Given the description of an element on the screen output the (x, y) to click on. 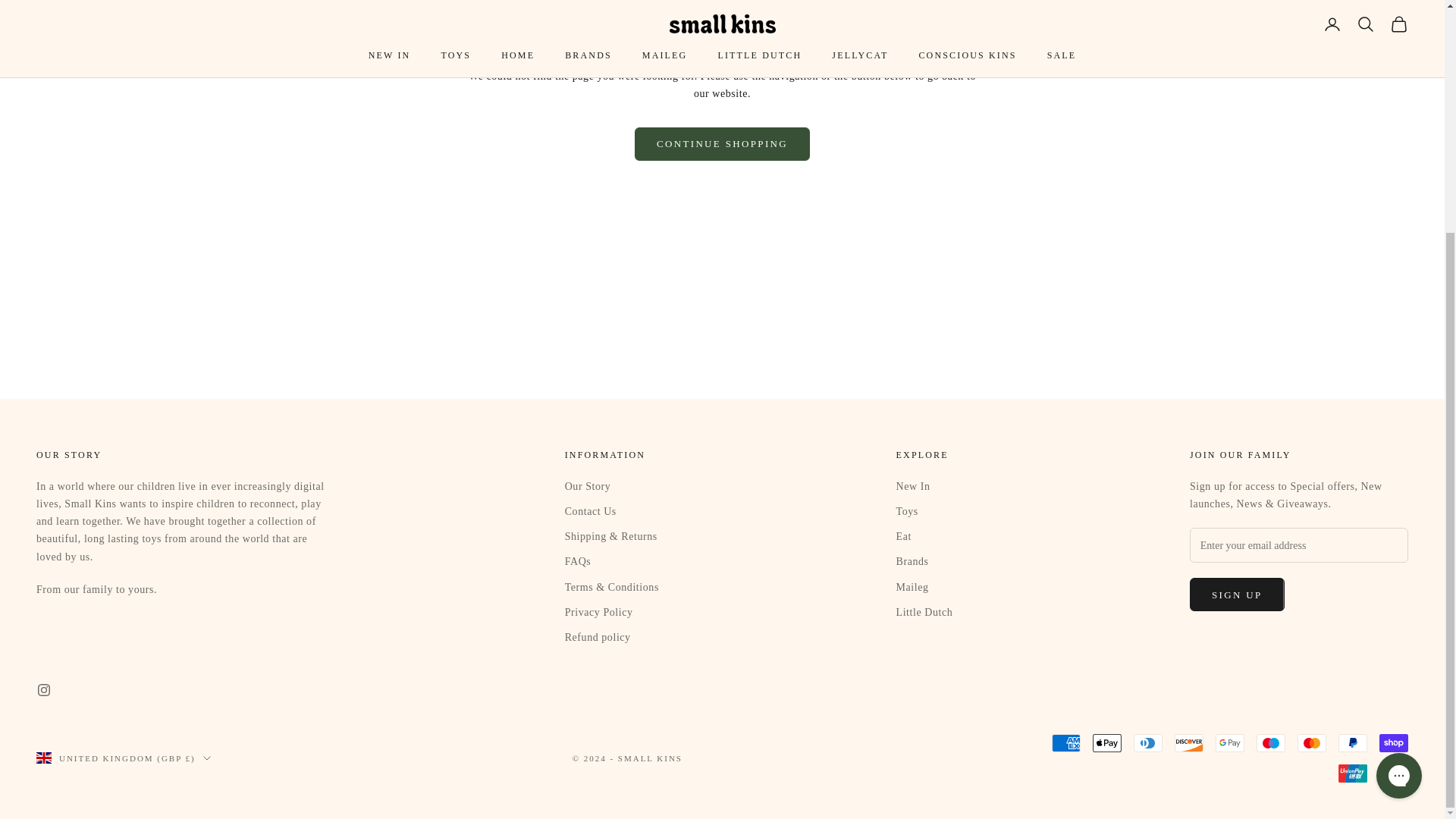
Gorgias live chat messenger (1398, 460)
